Given the description of an element on the screen output the (x, y) to click on. 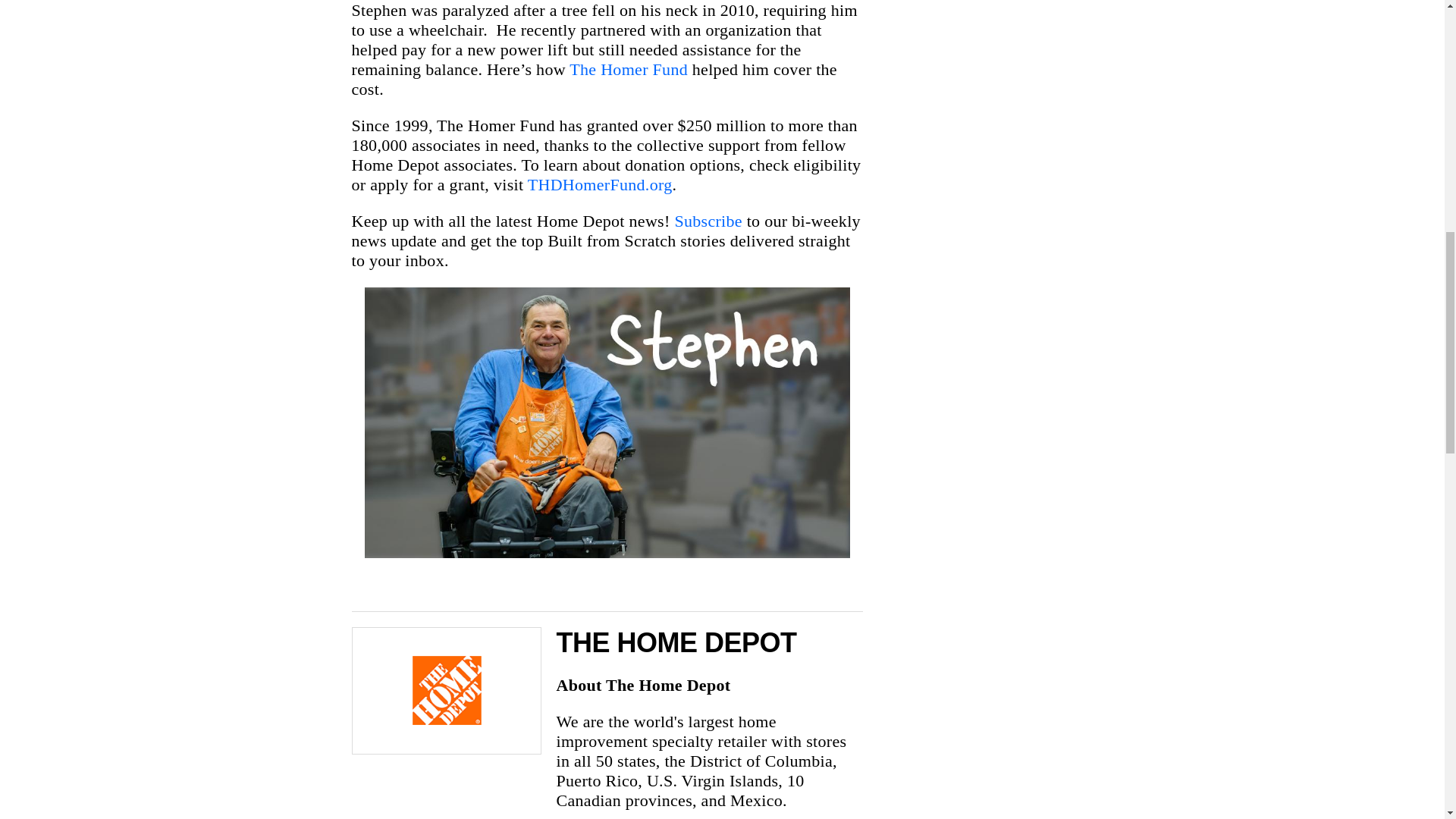
Subscribe (707, 220)
The Homer Fund (628, 68)
THDHomerFund.org (599, 184)
